Given the description of an element on the screen output the (x, y) to click on. 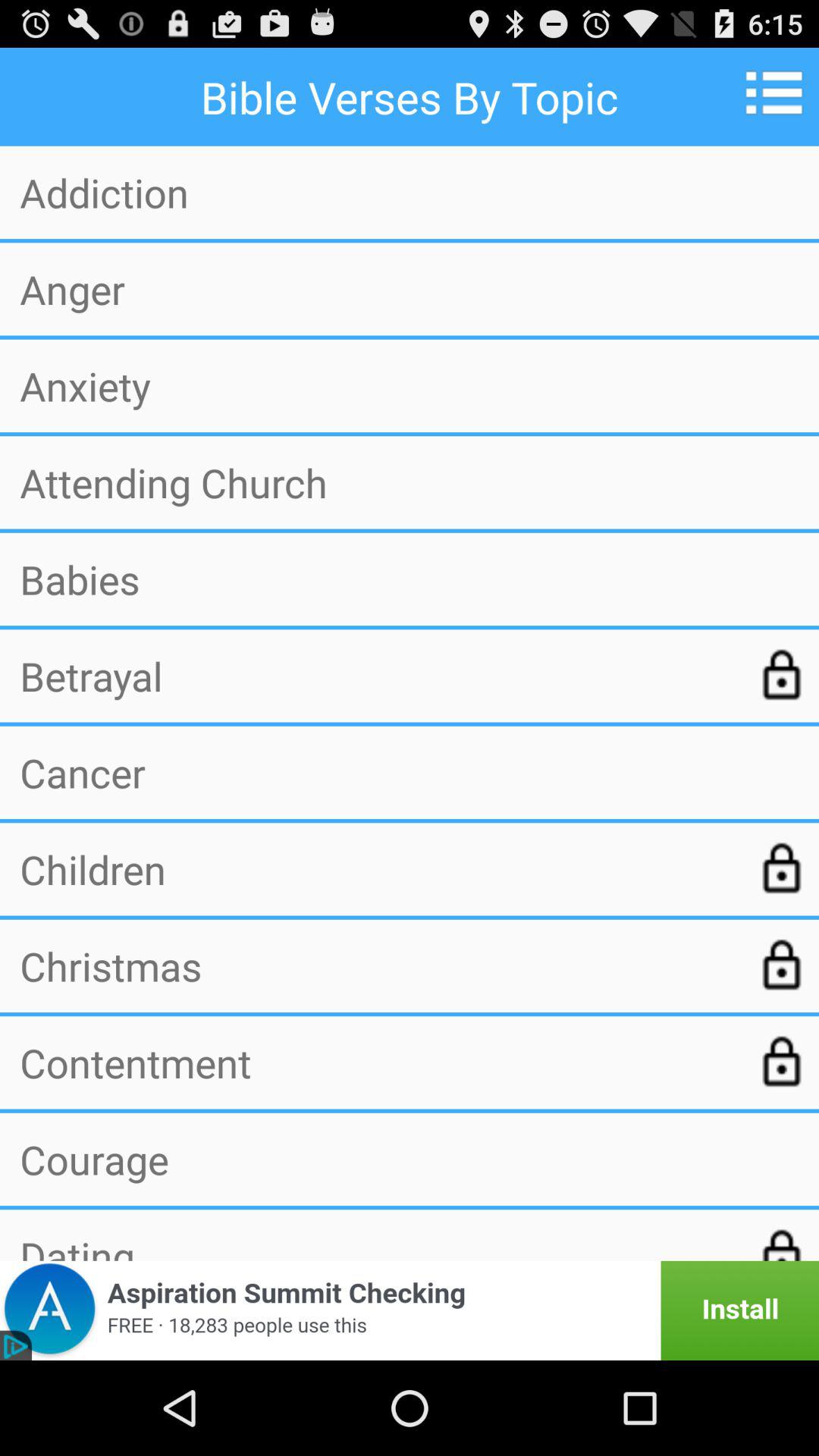
scroll to anxiety app (409, 385)
